Given the description of an element on the screen output the (x, y) to click on. 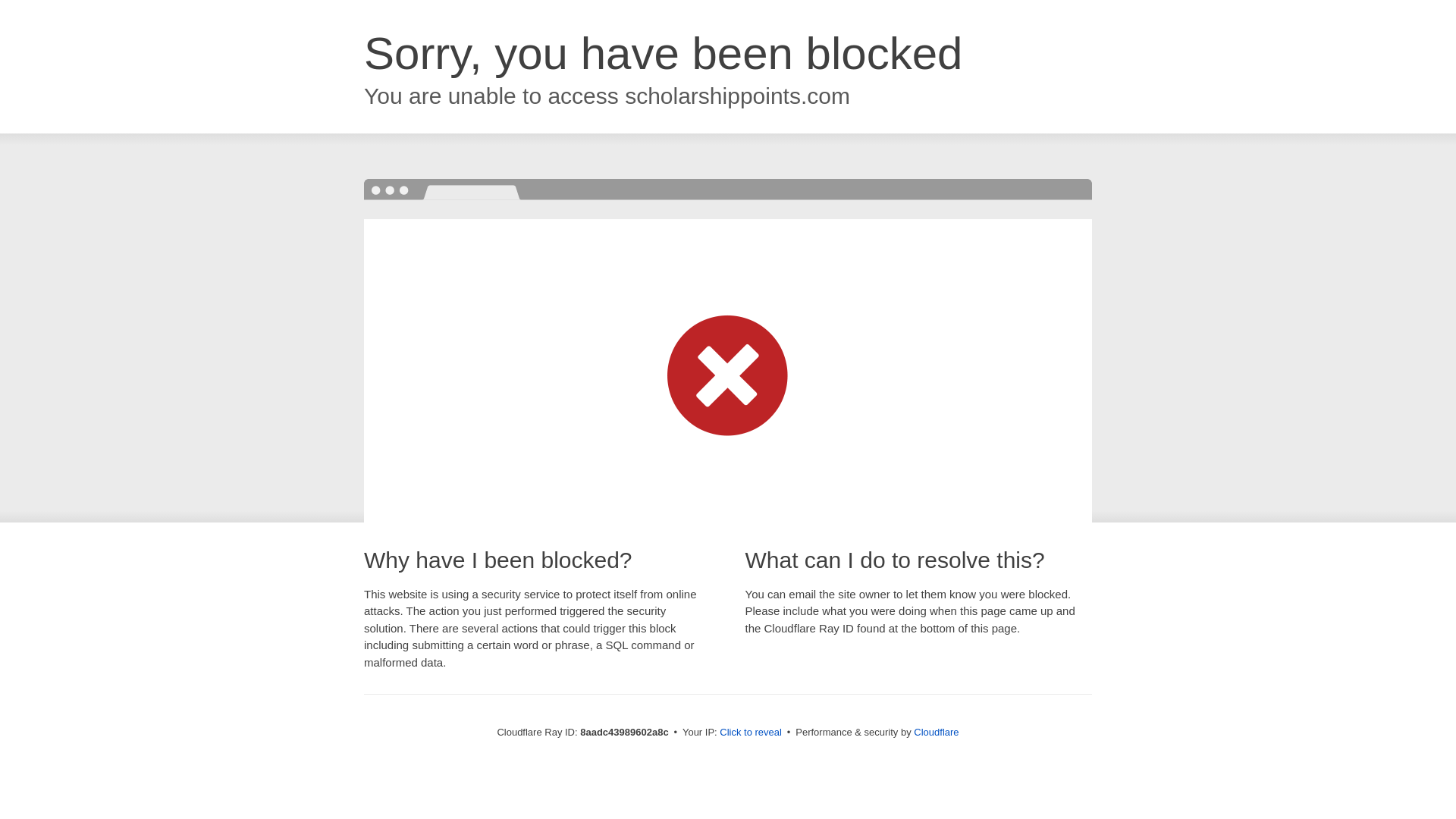
Cloudflare (936, 731)
Click to reveal (750, 732)
